Given the description of an element on the screen output the (x, y) to click on. 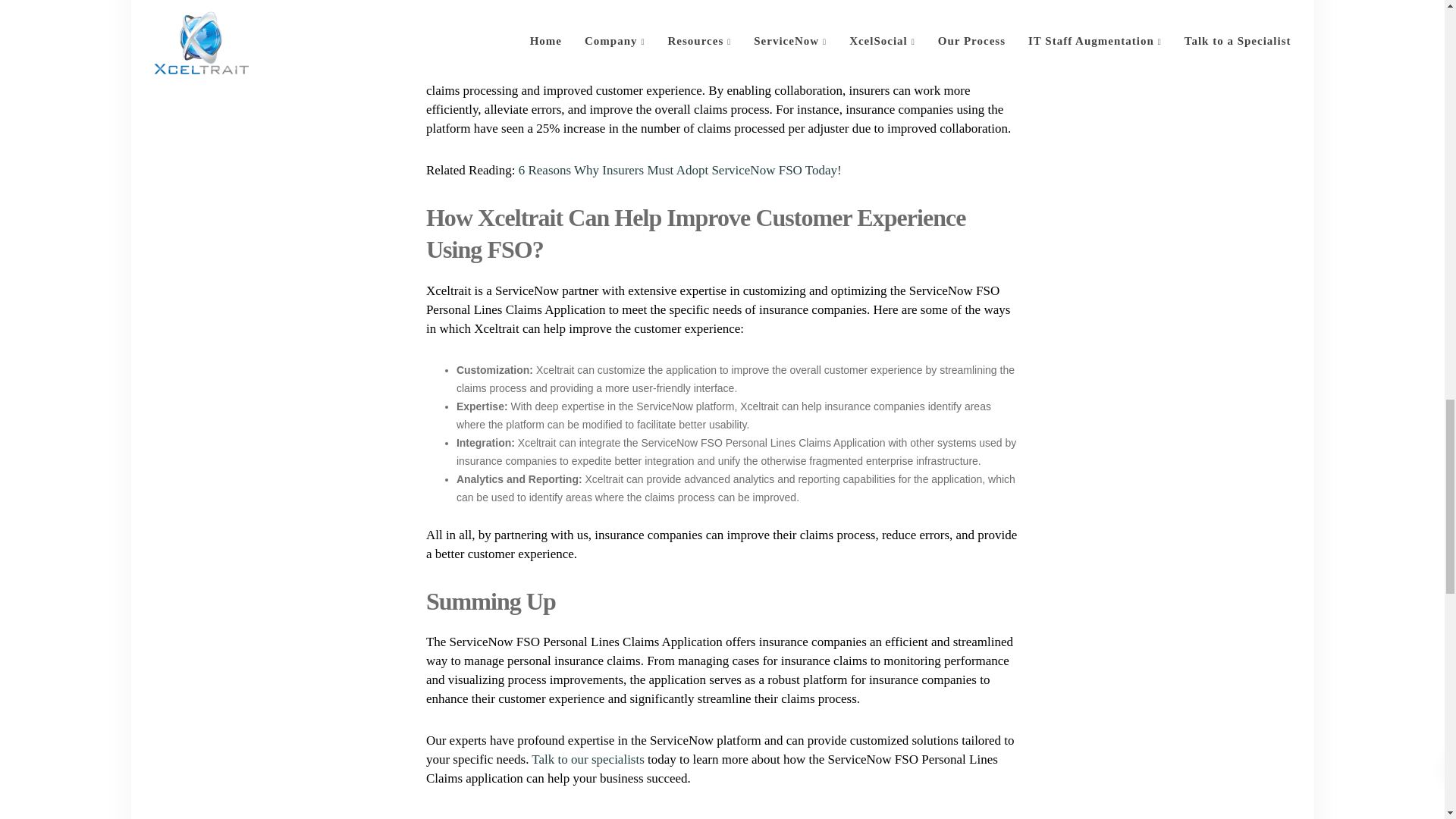
Talk to our specialists (587, 759)
6 Reasons Why Insurers Must Adopt ServiceNow FSO Today! (679, 169)
